Given the description of an element on the screen output the (x, y) to click on. 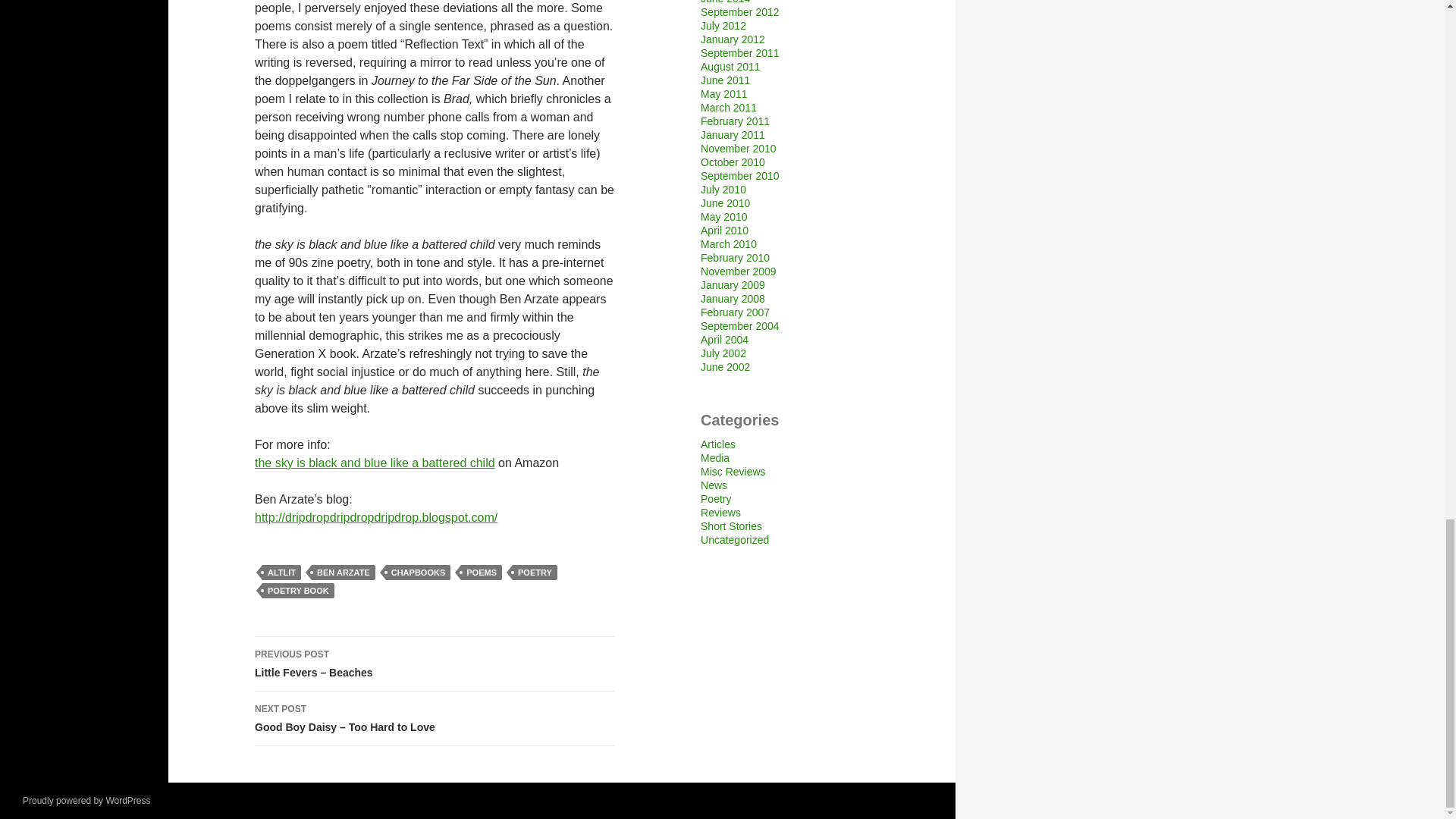
CHAPBOOKS (418, 572)
the sky is black and blue like a battered child (374, 462)
POETRY BOOK (298, 590)
POEMS (481, 572)
BEN ARZATE (343, 572)
the sky is black and blue like a battered child (374, 462)
POETRY (534, 572)
ALTLIT (281, 572)
